Given the description of an element on the screen output the (x, y) to click on. 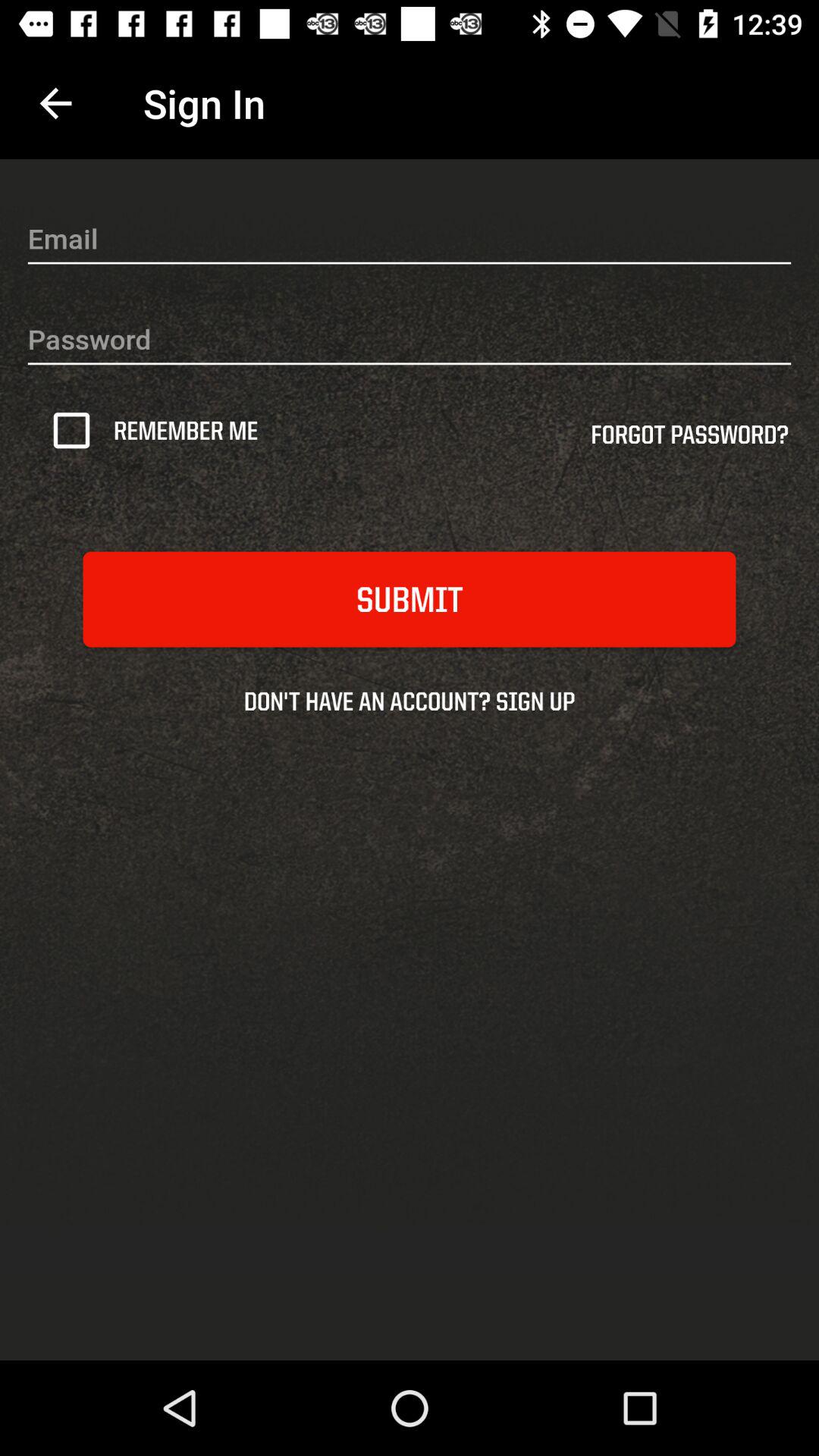
open the icon next to the remember me icon (76, 430)
